Given the description of an element on the screen output the (x, y) to click on. 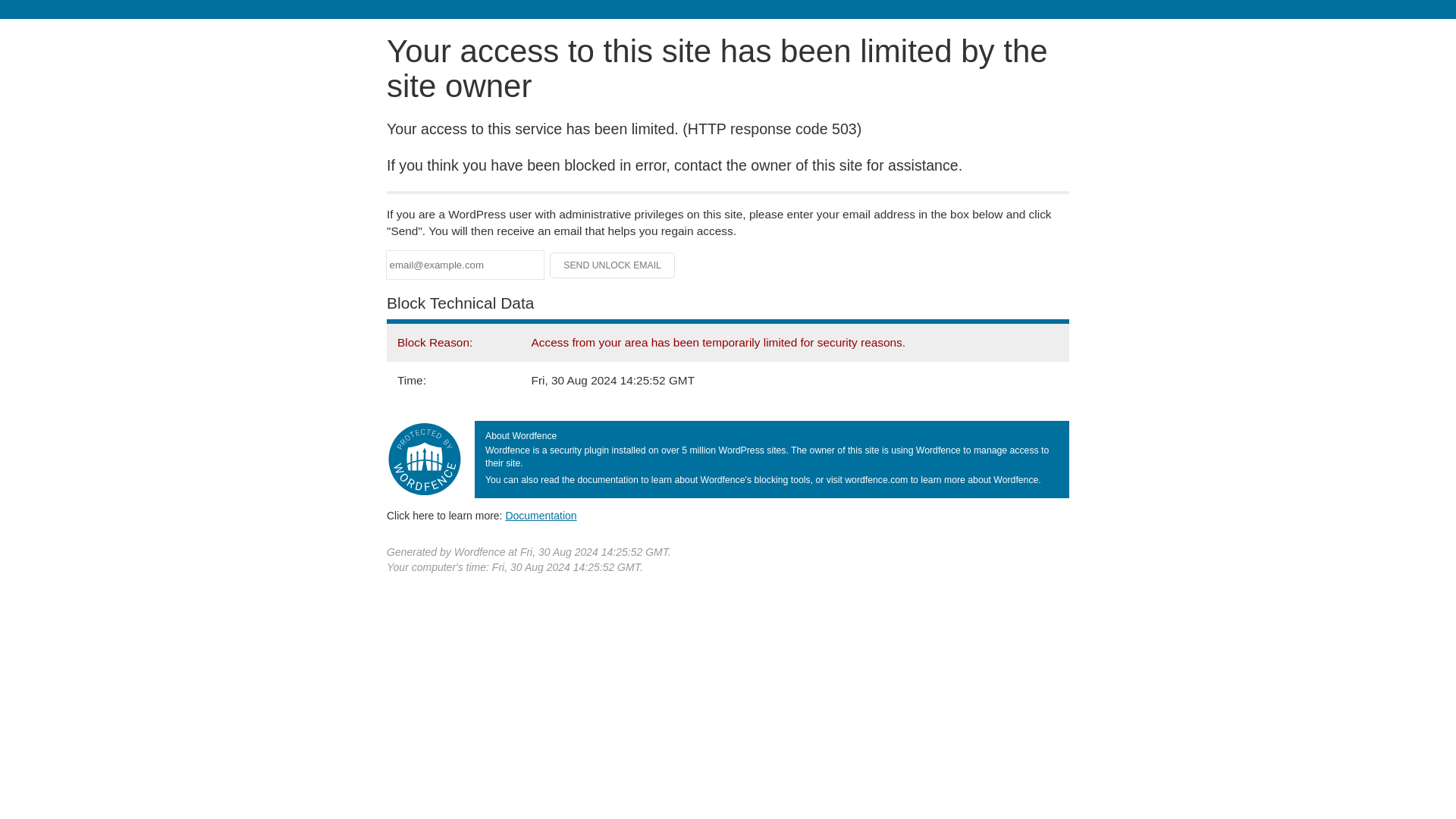
Send Unlock Email (612, 265)
Send Unlock Email (612, 265)
Documentation (540, 515)
